Given the description of an element on the screen output the (x, y) to click on. 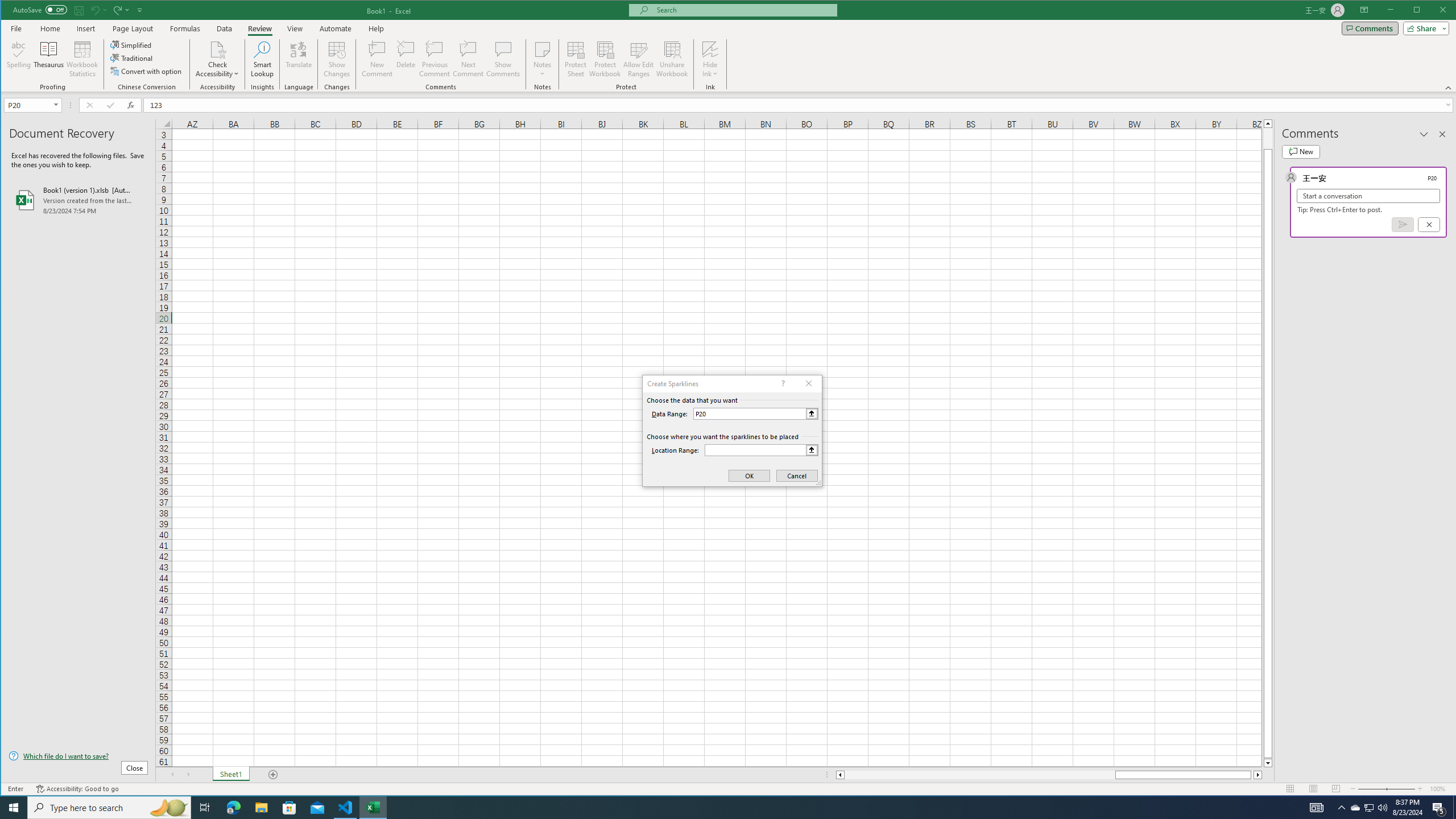
Sheet1 (230, 774)
Start a conversation (1368, 195)
Line up (1267, 122)
Accessibility Checker Accessibility: Good to go (77, 788)
Notes (541, 59)
Book1 (version 1).xlsb  [AutoRecovered] (78, 199)
Home (50, 28)
Zoom (1386, 788)
Allow Edit Ranges (638, 59)
Protect Sheet... (575, 59)
Save (79, 9)
More Options (710, 69)
Line down (1267, 763)
